Given the description of an element on the screen output the (x, y) to click on. 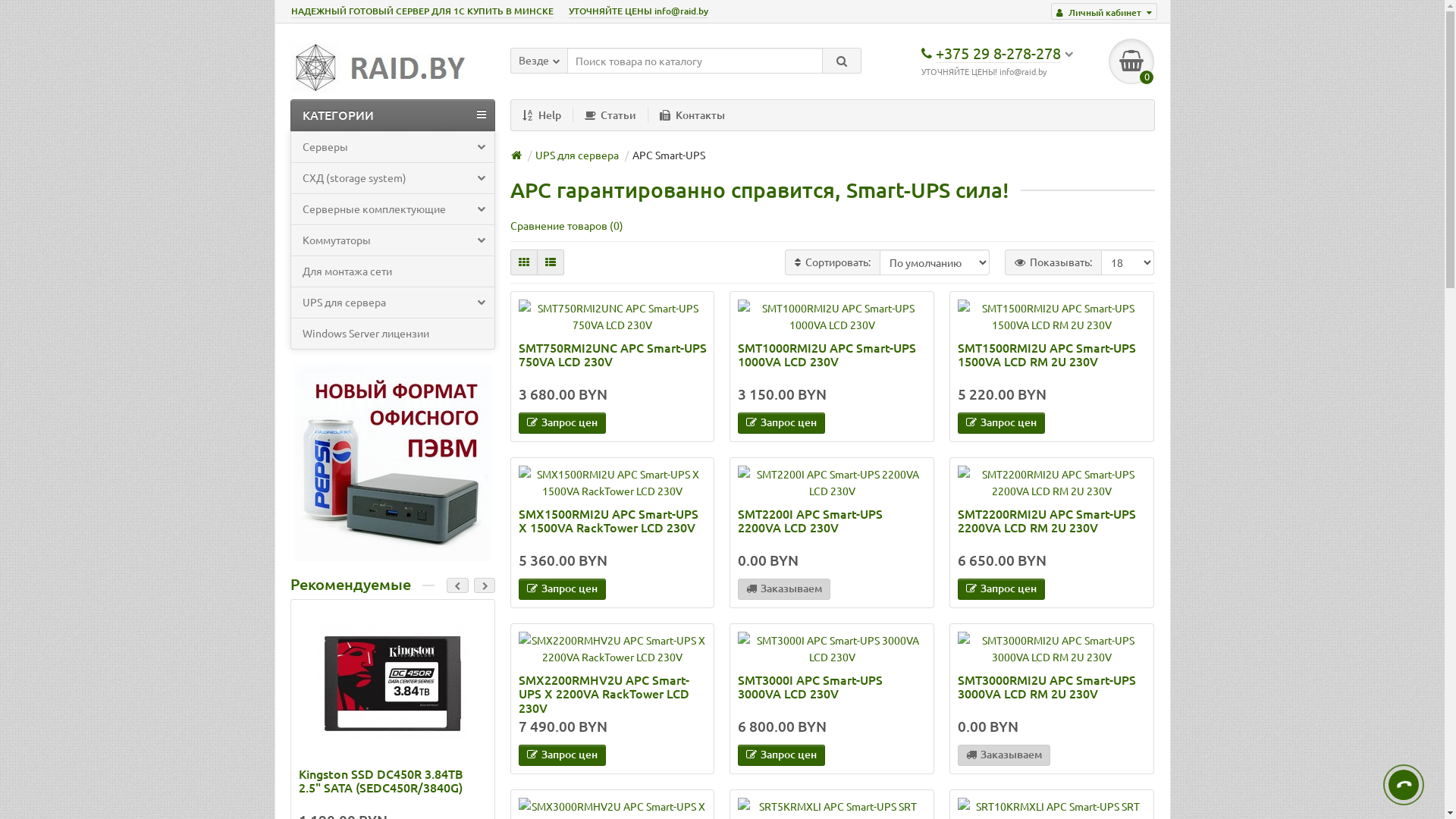
SMT1500RMI2U APC Smart-UPS 1500VA LCD RM 2U 230V Element type: text (1051, 361)
0 Element type: text (1131, 61)
SMT2200I APC Smart-UPS 2200VA LCD 230V Element type: hover (831, 481)
SMT1000RMI2U APC Smart-UPS 1000VA LCD 230V Element type: text (831, 361)
SMT2200I APC Smart-UPS 2200VA LCD 230V Element type: text (831, 527)
Kingston SSD DC450R 3.84TB 2.5" SATA (SEDC450R/3840G) Element type: text (392, 787)
SMX1500RMI2U APC Smart-UPS X 1500VA RackTower LCD 230V Element type: text (612, 527)
SMT1000RMI2U APC Smart-UPS 1000VA LCD 230V Element type: hover (831, 315)
SMX2200RMHV2U APC Smart-UPS X 2200VA RackTower LCD 230V Element type: text (612, 693)
SMT3000RMI2U APC Smart-UPS 3000VA LCD RM 2U 230V Element type: hover (1051, 648)
SMT1500RMI2U APC Smart-UPS 1500VA LCD RM 2U 230V Element type: hover (1051, 315)
 Kingston SSD DC450R 3.84TB 2.5" SATA (SEDC450R/3840G) Element type: hover (392, 683)
SMT2200RMI2U APC Smart-UPS 2200VA LCD RM 2U 230V Element type: hover (1051, 481)
SMT750RMI2UNC APC Smart-UPS 750VA LCD 230V Element type: text (612, 361)
SMT3000RMI2U APC Smart-UPS 3000VA LCD RM 2U 230V Element type: text (1051, 693)
 Kingston SSD DC450R 3.84TB 2.5 Element type: hover (392, 615)
SMX1500RMI2U APC Smart-UPS X 1500VA RackTower LCD 230V Element type: hover (612, 481)
SMT750RMI2UNC APC Smart-UPS 750VA LCD  230V Element type: hover (612, 315)
SMT2200RMI2U APC Smart-UPS 2200VA LCD RM 2U 230V Element type: text (1051, 527)
SMT3000I APC Smart-UPS 3000VA LCD 230V Element type: hover (831, 648)
SMX2200RMHV2U APC Smart-UPS X 2200VA RackTower LCD 230V Element type: hover (612, 648)
Help Element type: text (542, 114)
RAID.BY Element type: hover (384, 68)
SMT3000I APC Smart-UPS 3000VA LCD 230V Element type: text (831, 693)
